Given the description of an element on the screen output the (x, y) to click on. 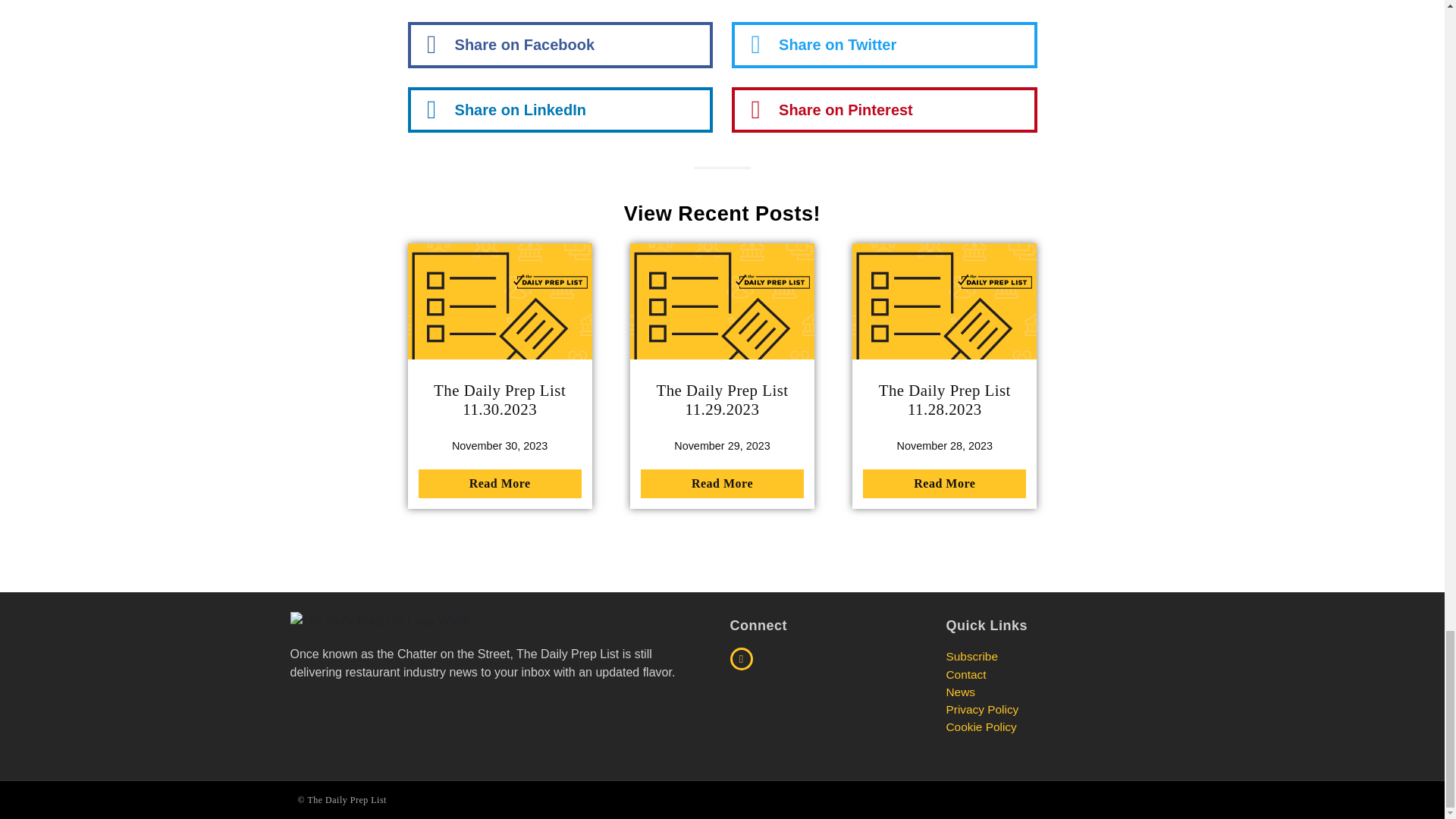
The Daily Prep List 11.30.2023 (499, 399)
Read More (944, 483)
Read More (721, 483)
November 28, 2023 (944, 445)
November 30, 2023 (499, 445)
November 29, 2023 (722, 445)
Read More (499, 483)
The Daily Prep List 11.29.2023 (721, 399)
The Daily Prep List 11.28.2023 (944, 399)
